Given the description of an element on the screen output the (x, y) to click on. 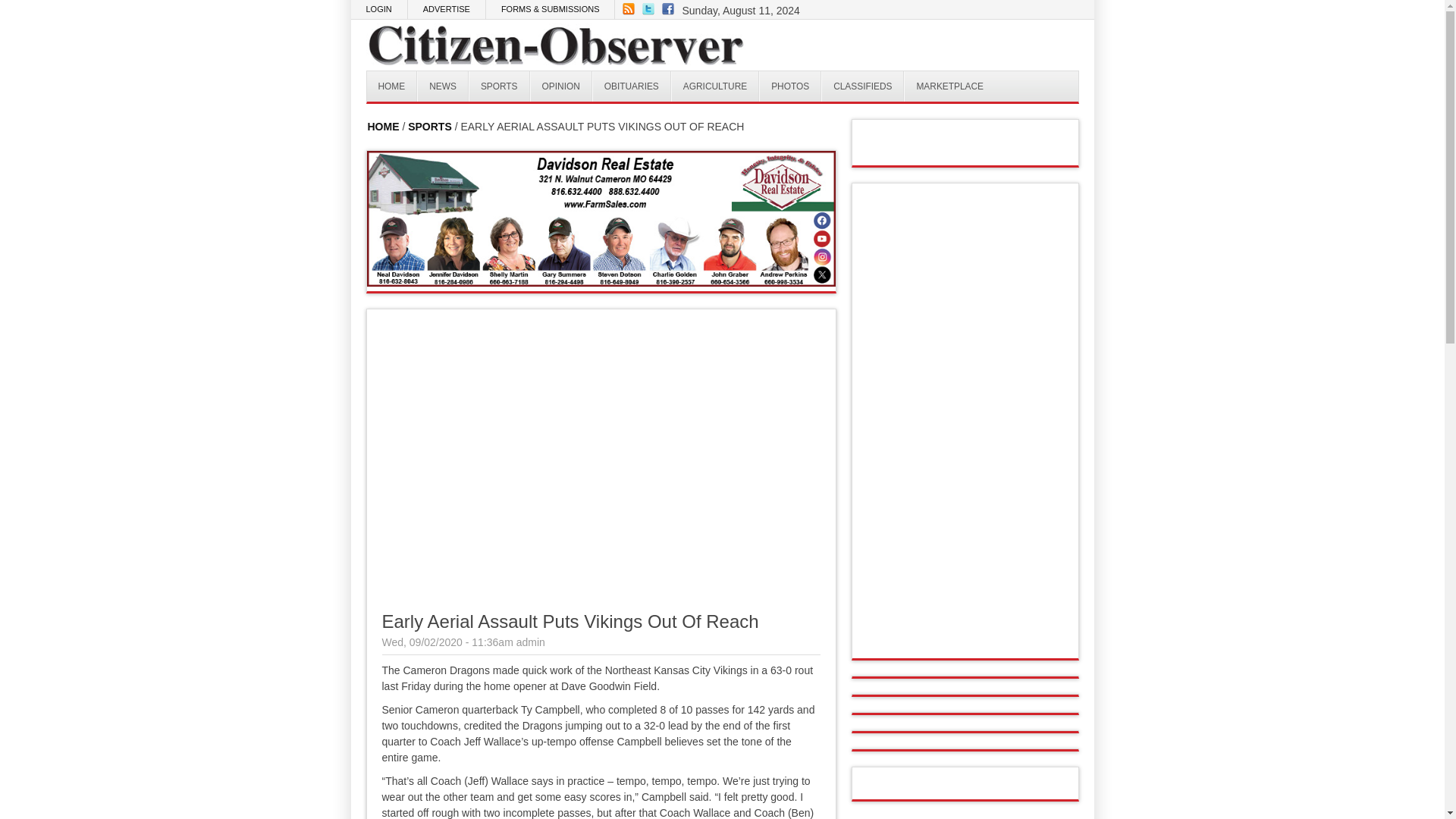
AGRICULTURE (714, 86)
NEWS (442, 86)
LOGIN (378, 9)
HOME (382, 126)
Sports (498, 86)
OBITUARIES (631, 86)
SPORTS (429, 126)
HOME (391, 86)
CLASSIFIEDS (862, 86)
